Given the description of an element on the screen output the (x, y) to click on. 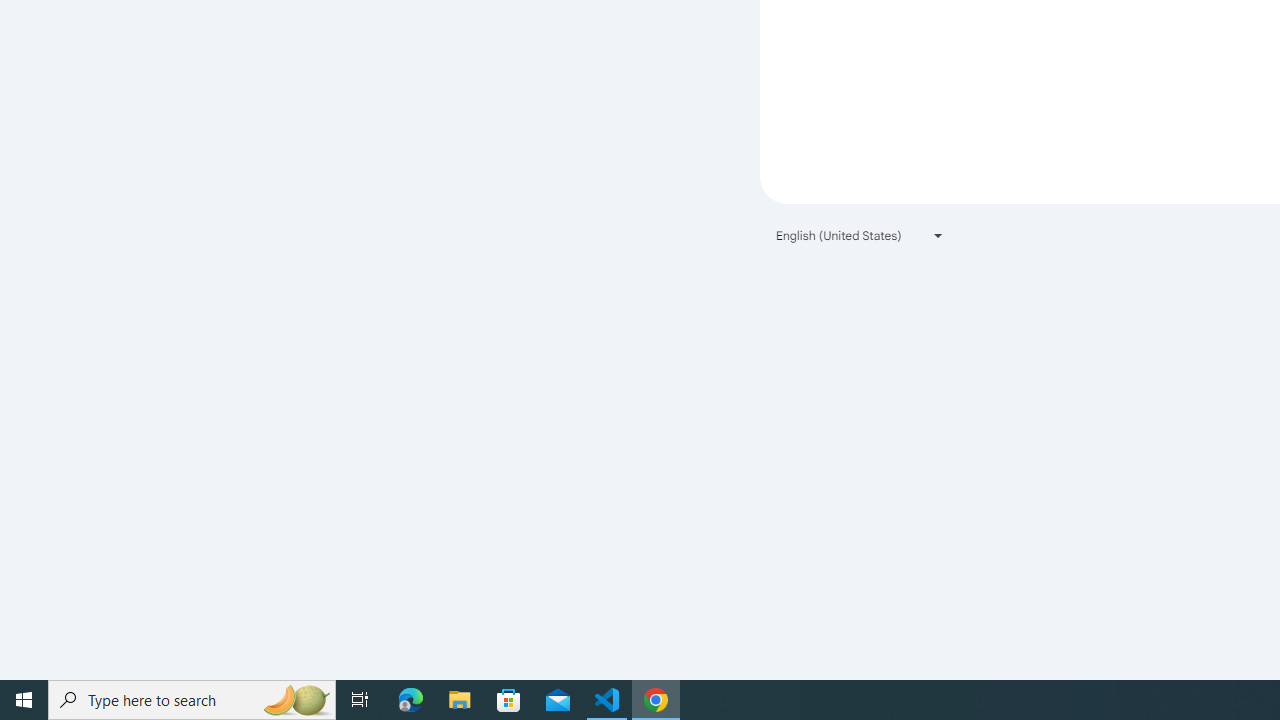
English (United States) (860, 234)
